Given the description of an element on the screen output the (x, y) to click on. 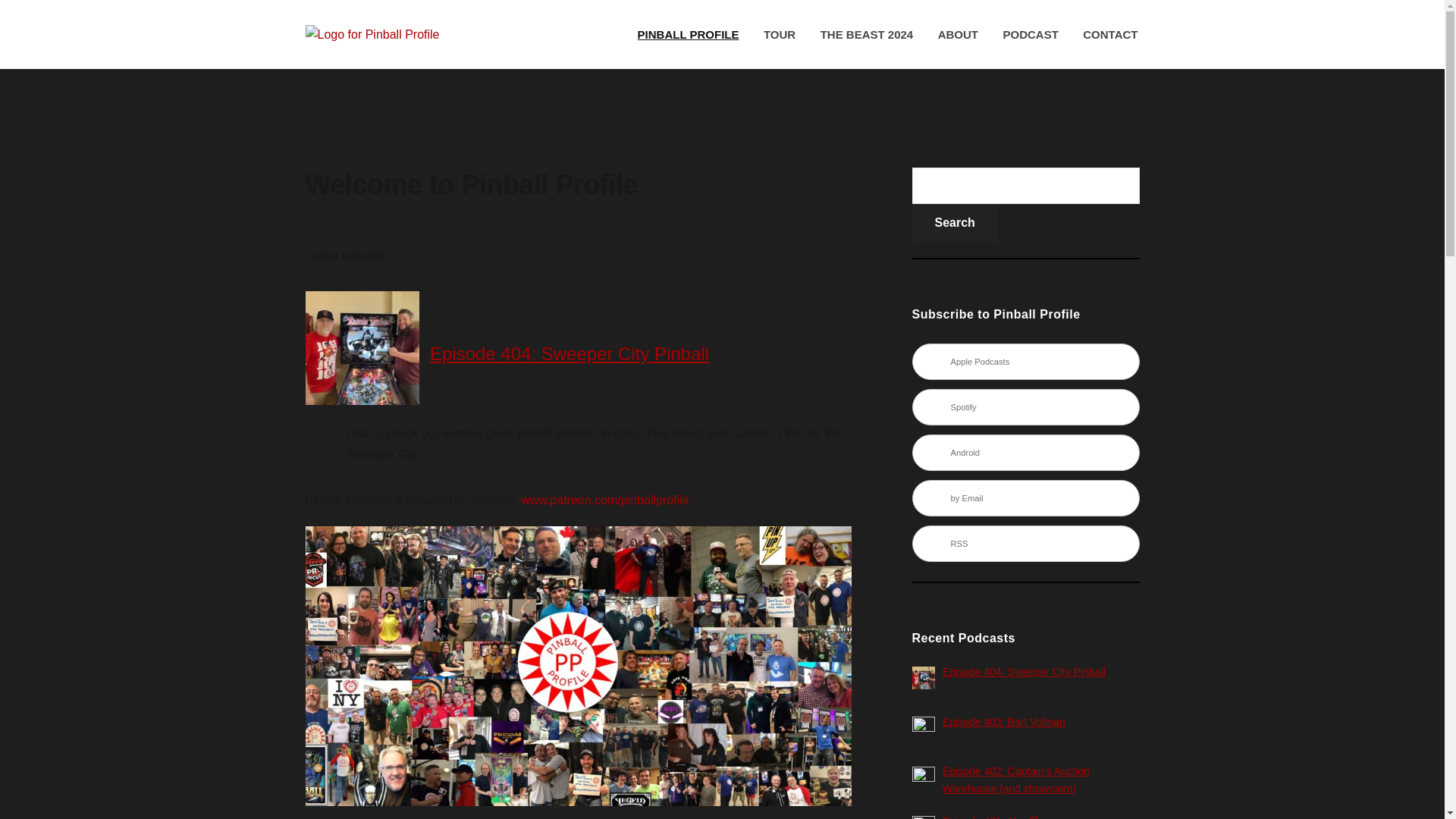
Episode 404: Sweeper City Pinball (1023, 671)
Subscribe on Apple Podcasts (1024, 361)
Episode 404: Sweeper City Pinball (569, 353)
Subscribe by Email (1024, 497)
PINBALL PROFILE (688, 34)
ABOUT (957, 34)
by Email (1024, 497)
Spotify (1024, 407)
THE BEAST 2024 (866, 34)
Episode 403: Bart Volman (1003, 721)
